Given the description of an element on the screen output the (x, y) to click on. 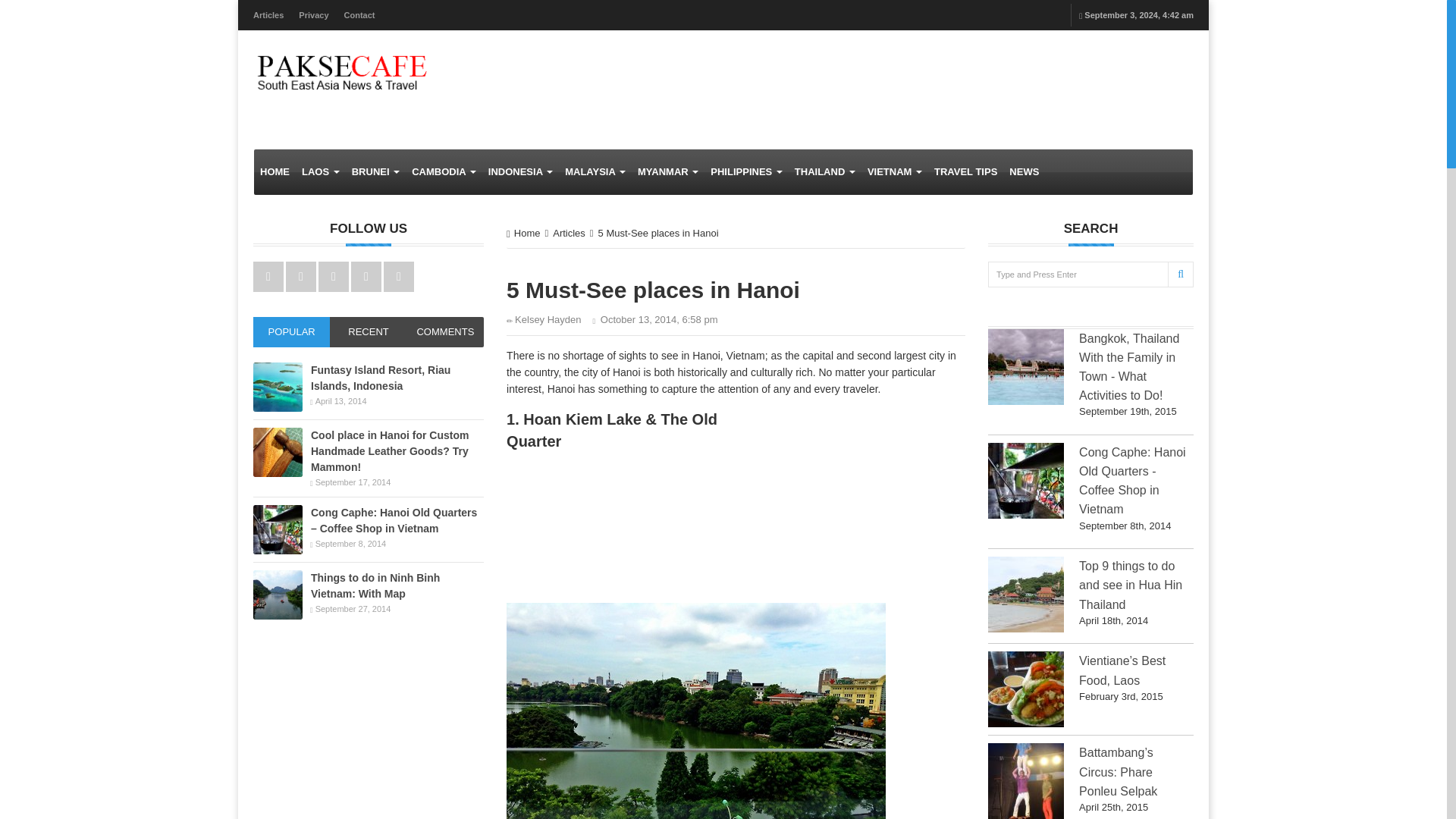
Pakse Cafe (340, 70)
Advertisement (870, 503)
More things to do in Hanoi (610, 372)
Published on October 13, 2014 at 6:58 pm (654, 319)
View Kelsey Hayden's posts (543, 319)
Cool things to see in Vietnam (691, 355)
